Given the description of an element on the screen output the (x, y) to click on. 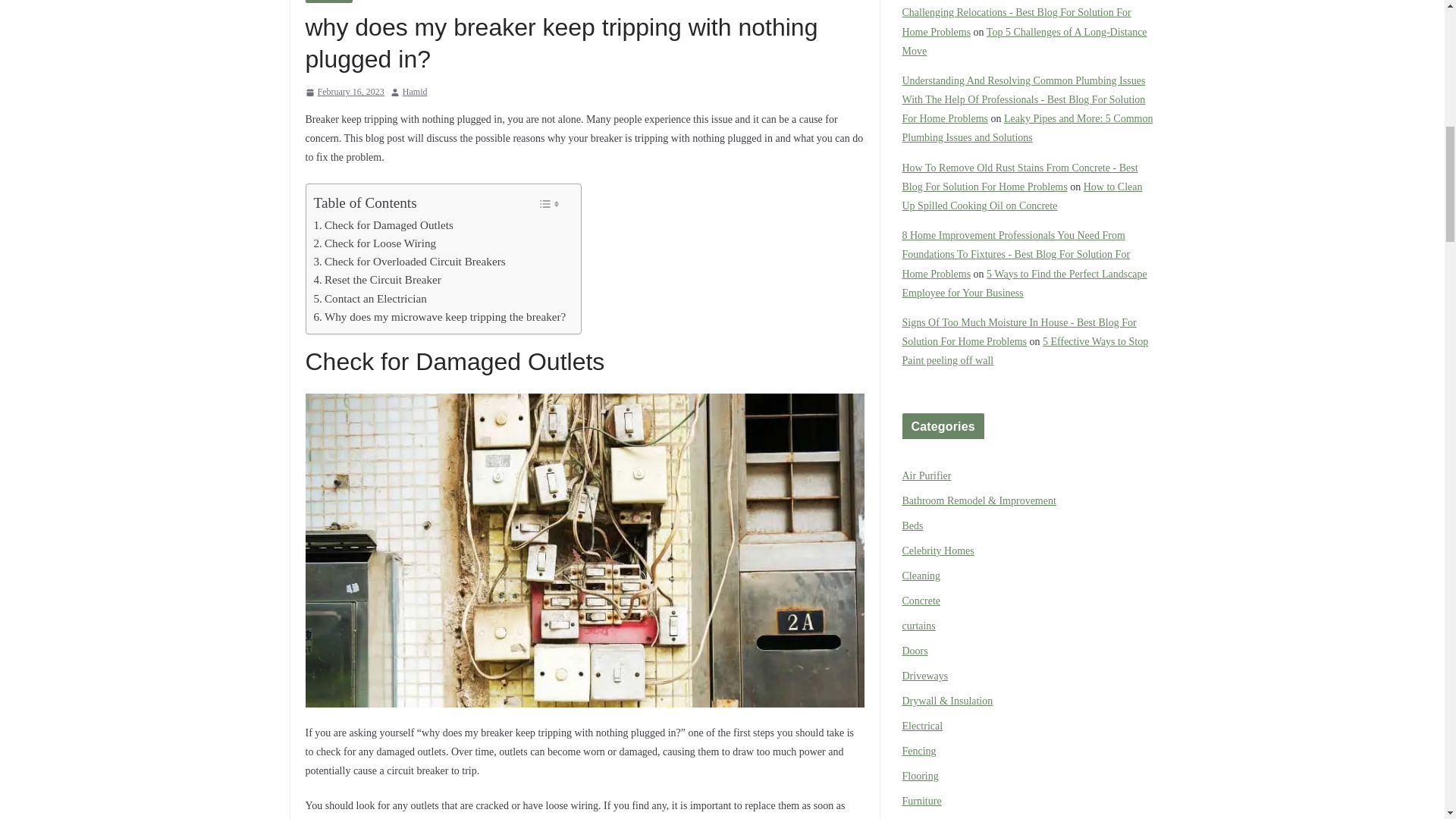
Check for Overloaded Circuit Breakers (409, 261)
Check for Overloaded Circuit Breakers (409, 261)
Reset the Circuit Breaker (377, 280)
Check for Damaged Outlets (383, 225)
Contact an Electrician (370, 298)
10:51 pm (344, 92)
Why does my microwave keep tripping the breaker? (440, 316)
Hamid (415, 92)
Check for Loose Wiring (375, 243)
